Given the description of an element on the screen output the (x, y) to click on. 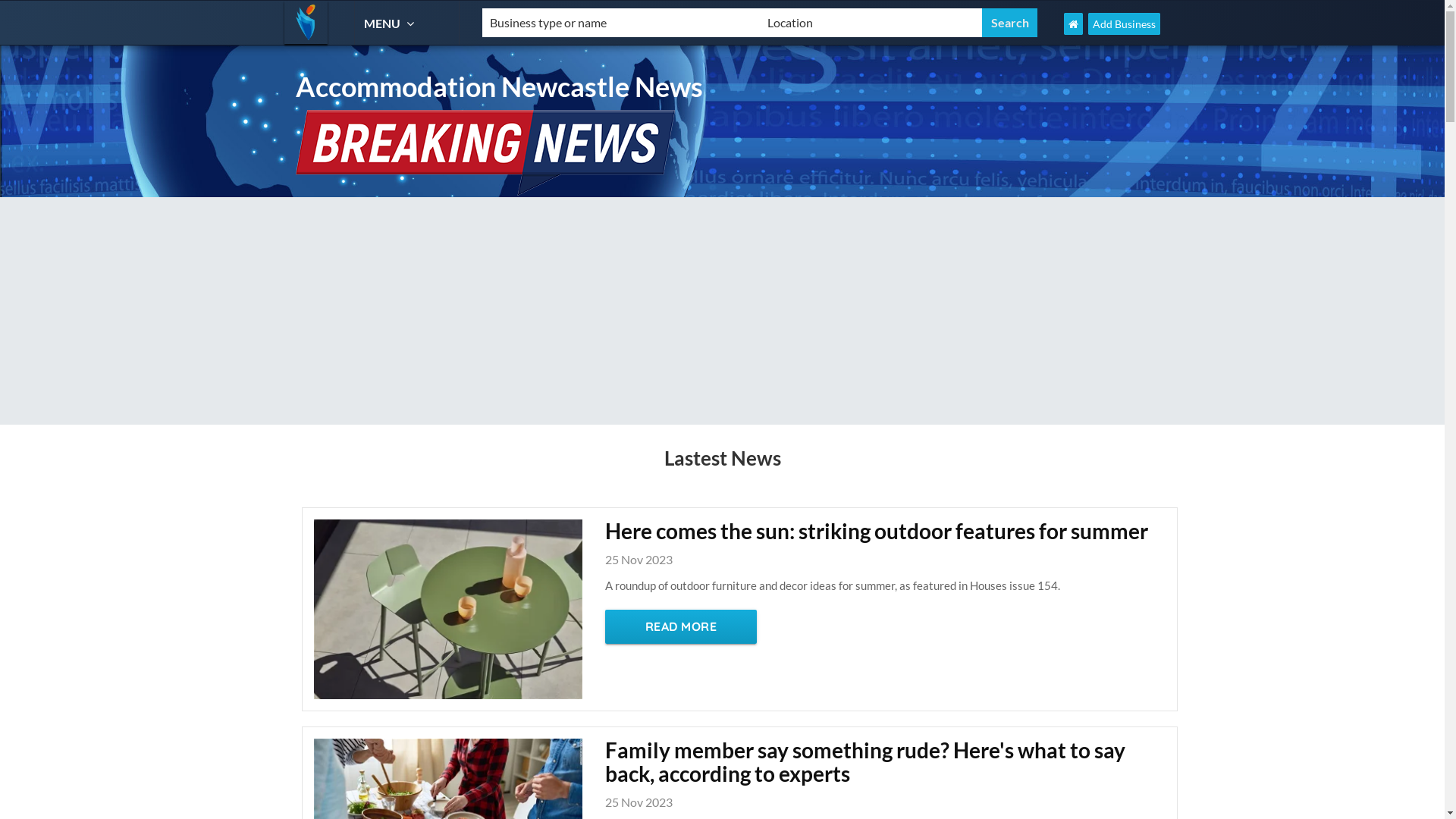
Accommodation Newcastle Home Page Element type: hover (1072, 23)
Search Element type: text (1009, 22)
Accommodation Newcastle Element type: hover (305, 21)
Advertisement Element type: hover (721, 310)
Here comes the sun: striking outdoor features for summer Element type: hover (447, 607)
Add Business Element type: text (1124, 23)
Here comes the sun: striking outdoor features for summer Element type: text (885, 543)
MENU Element type: text (390, 22)
READ MORE Element type: text (680, 626)
